Given the description of an element on the screen output the (x, y) to click on. 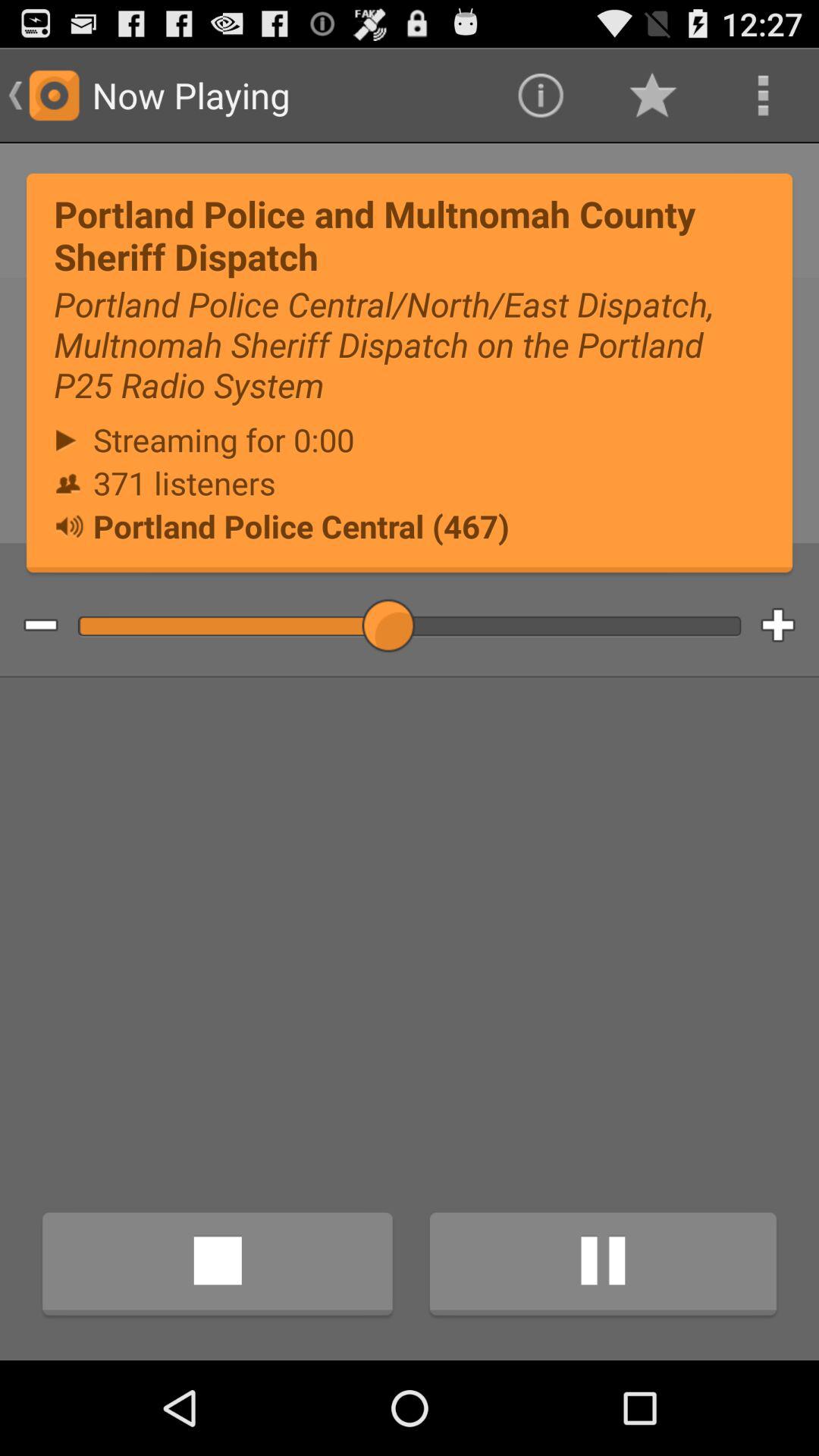
turn down volume (29, 626)
